Given the description of an element on the screen output the (x, y) to click on. 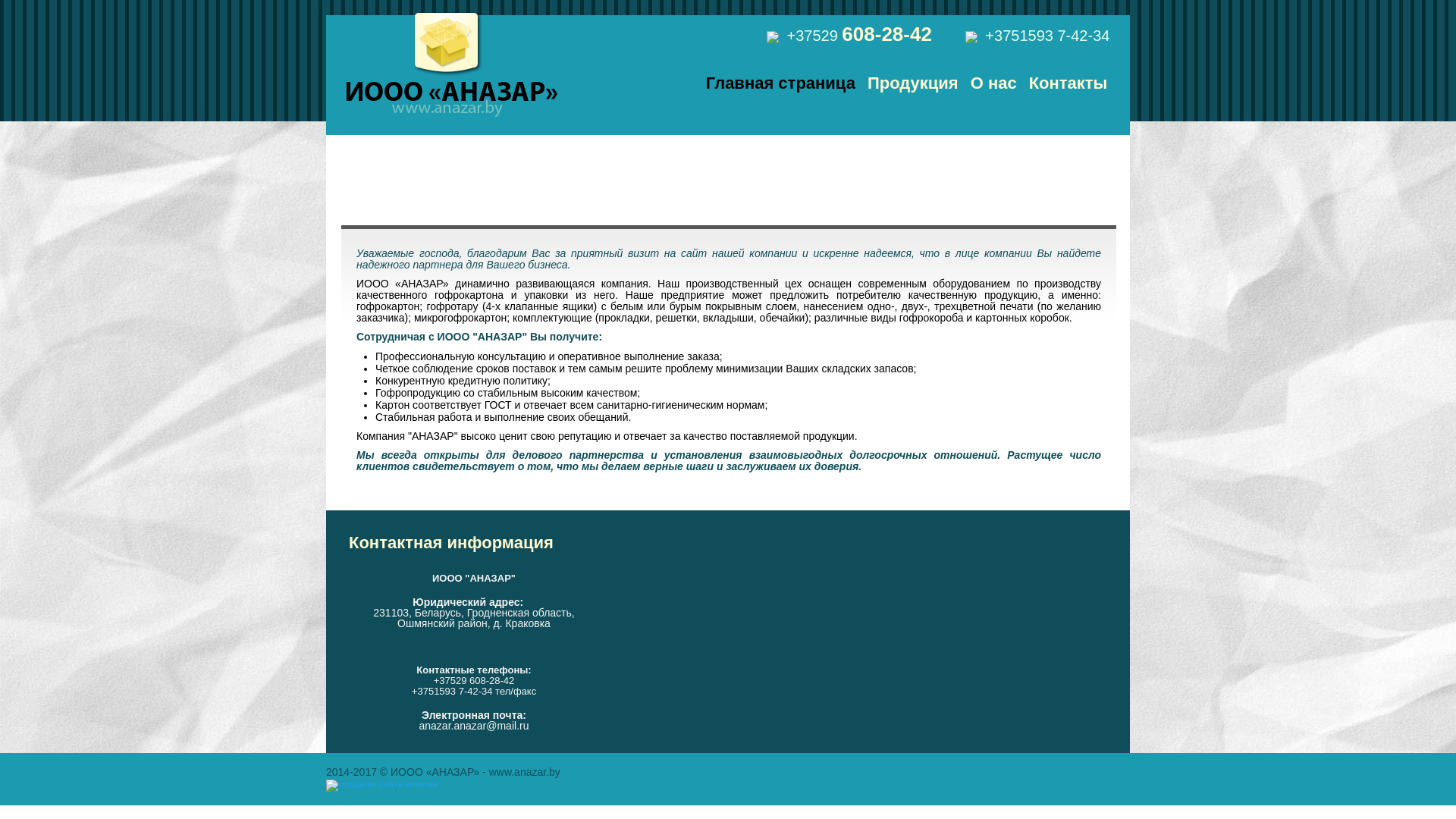
anazar.anazar@mail.ru Element type: text (474, 725)
